Given the description of an element on the screen output the (x, y) to click on. 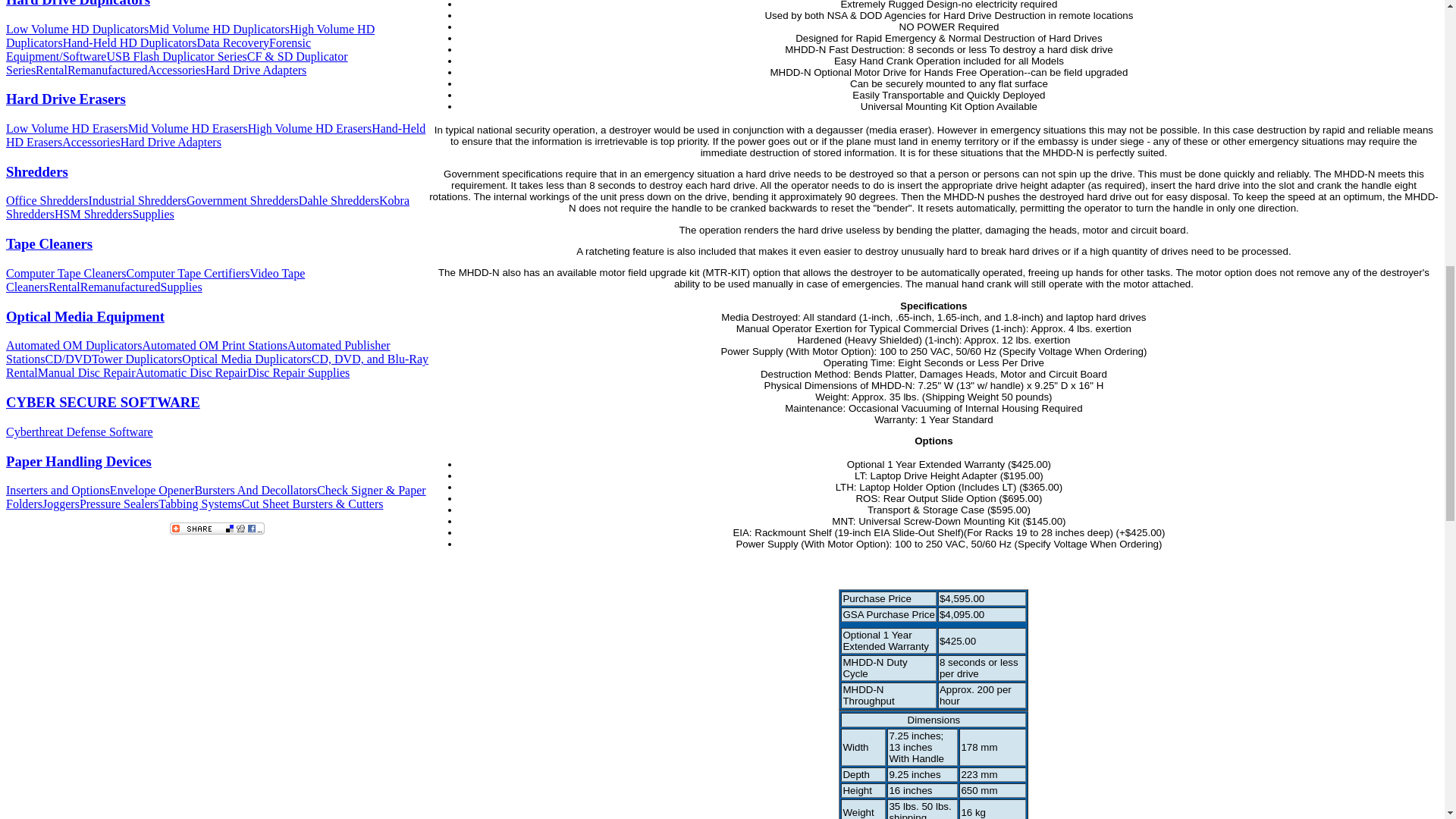
High Volume HD Duplicators (189, 35)
Low Volume HD Duplicators (76, 29)
Hard Drive Duplicators (77, 3)
Data Recovery (232, 42)
Hand-Held HD Duplicators (129, 42)
USB Flash Duplicator Series (176, 56)
Mid Volume HD Duplicators (218, 29)
Rental (50, 69)
